Given the description of an element on the screen output the (x, y) to click on. 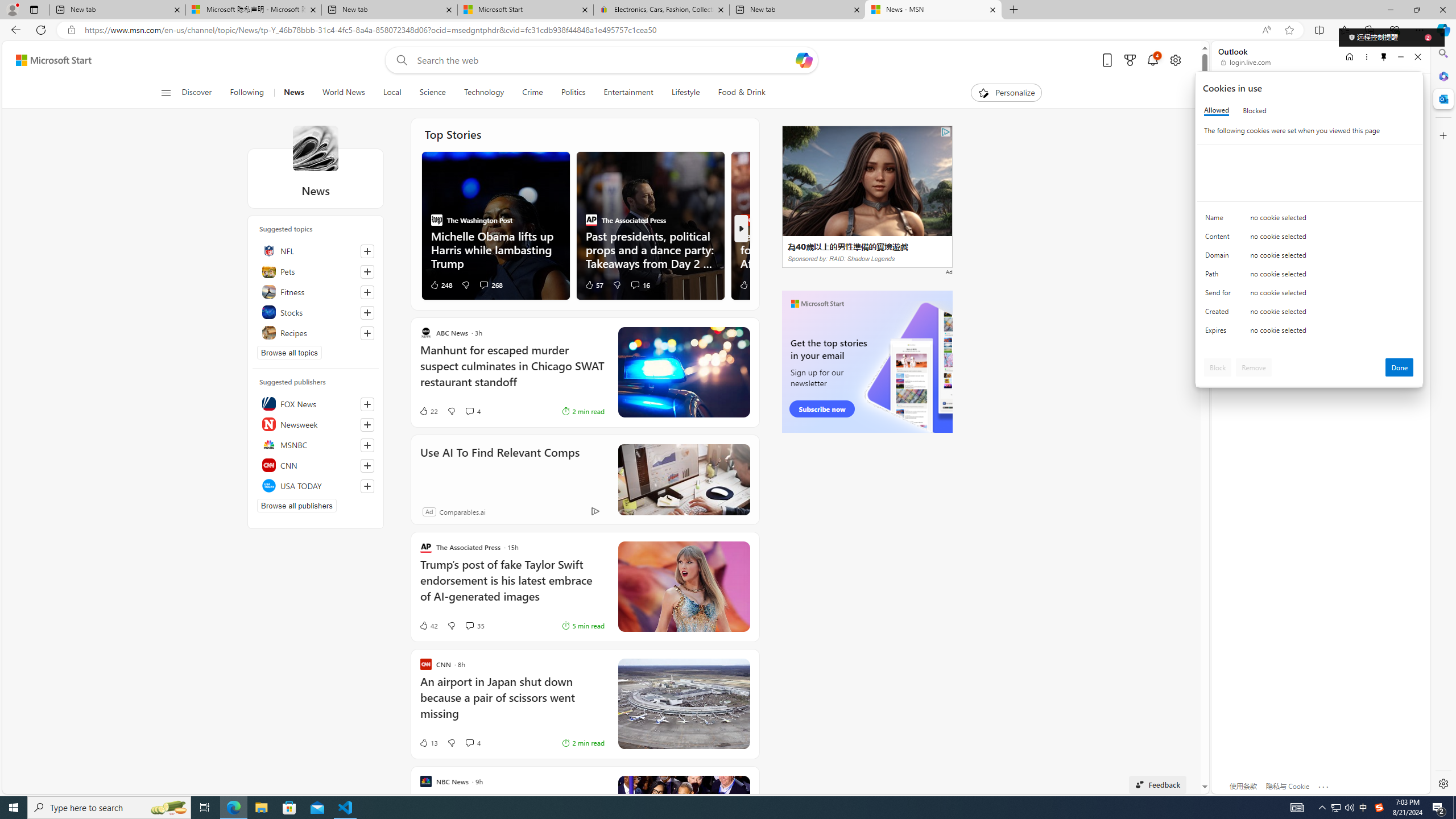
Use AI To Find Relevant Comps (683, 479)
World News (343, 92)
View comments 268 Comment (484, 284)
login.live.com (1246, 61)
MSNBC (315, 444)
Domain (1219, 257)
Crime (531, 92)
Notifications (1152, 60)
Microsoft rewards (1129, 60)
